Given the description of an element on the screen output the (x, y) to click on. 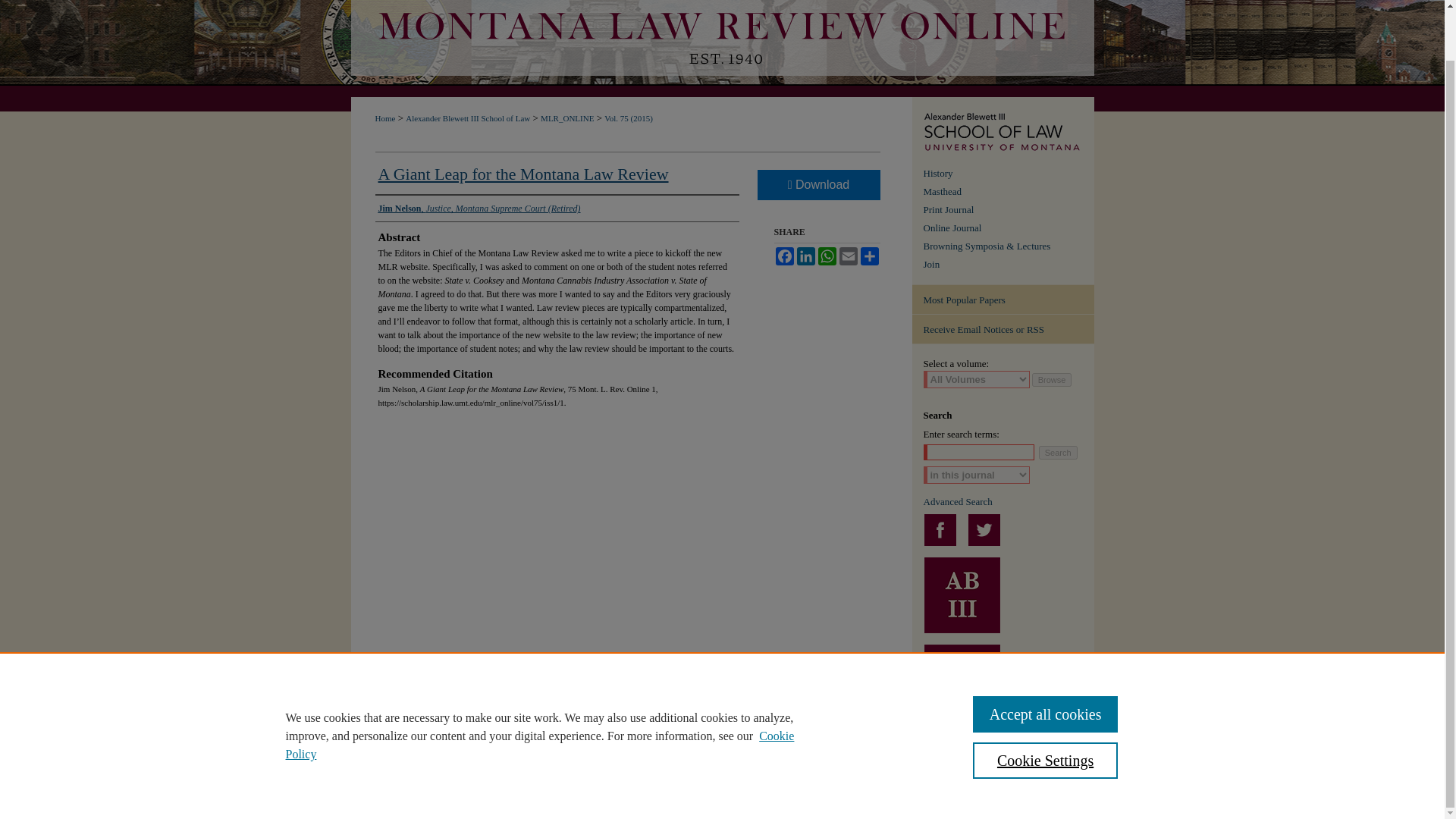
Montana Law Review Online (1008, 209)
WhatsApp (826, 256)
Browse (1051, 379)
Editorial Board (1008, 191)
Print Journal (1008, 209)
Search (1058, 452)
Alexander Blewett III School of Law (467, 117)
Search (1058, 452)
History (1008, 173)
About this Journal (1008, 173)
Be a Part of MLR (1008, 264)
Search (1058, 452)
Montana Law Review Online (721, 48)
Advanced Search (957, 501)
Receive Email Notices or RSS (1002, 328)
